Given the description of an element on the screen output the (x, y) to click on. 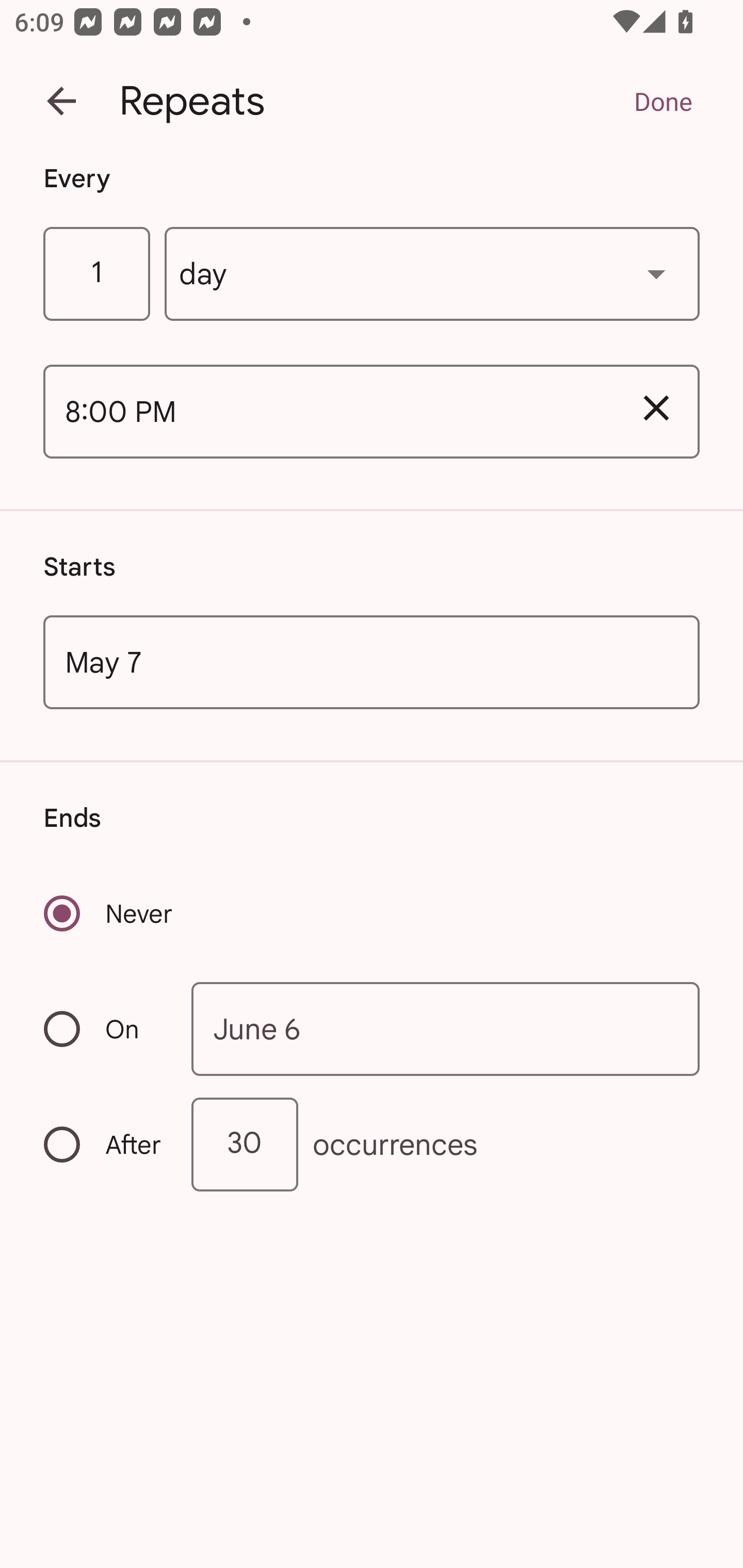
Back (61, 101)
Done (663, 101)
1 (96, 274)
day (431, 274)
Show dropdown menu (655, 273)
8:00 PM (327, 411)
Remove 8:00 PM (655, 408)
May 7 (371, 661)
Never Recurrence never ends (109, 913)
June 6 (445, 1028)
On Recurrence ends on a specific date (104, 1029)
30 (244, 1144)
